Given the description of an element on the screen output the (x, y) to click on. 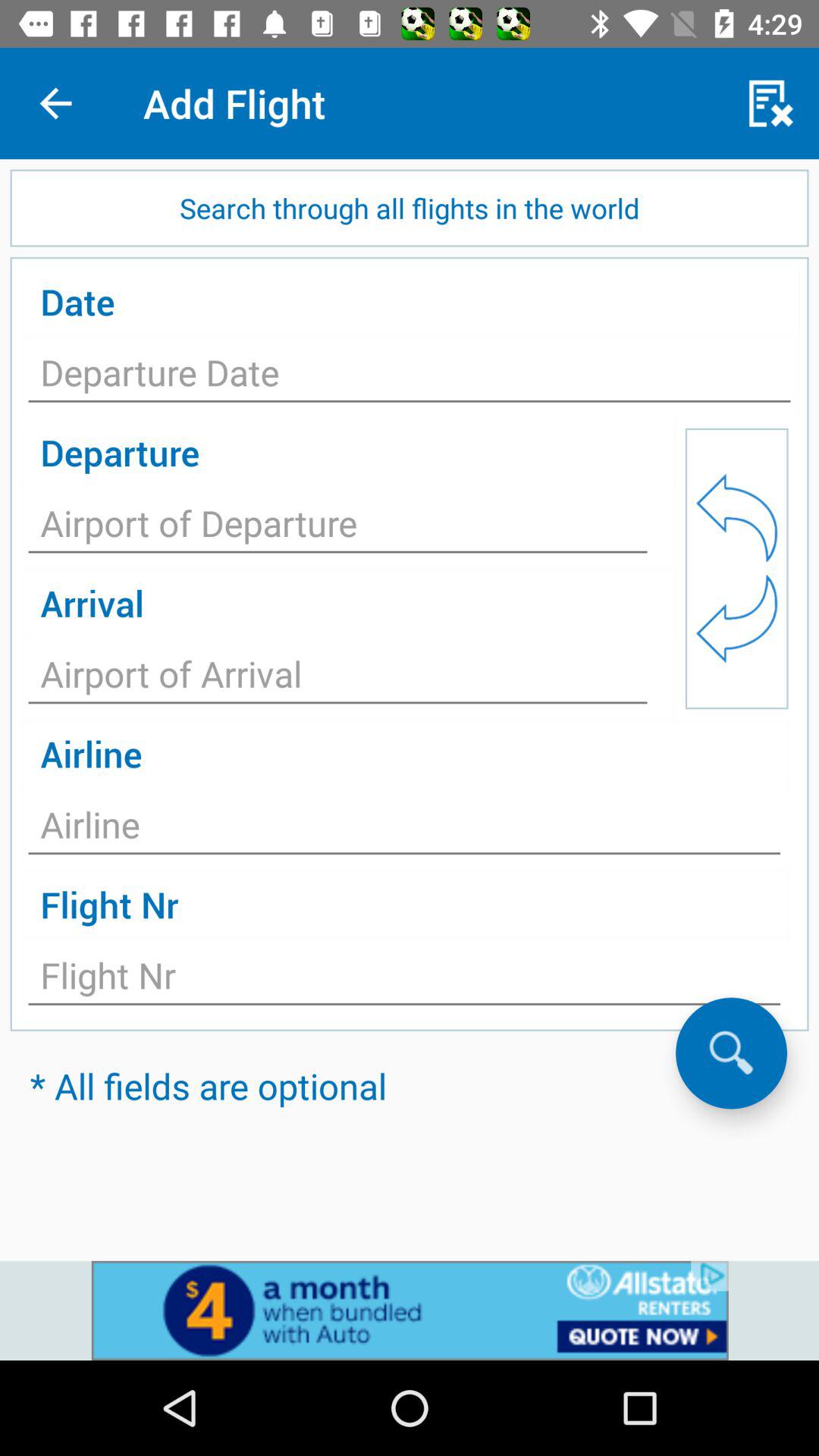
search for the flight (731, 1053)
